Given the description of an element on the screen output the (x, y) to click on. 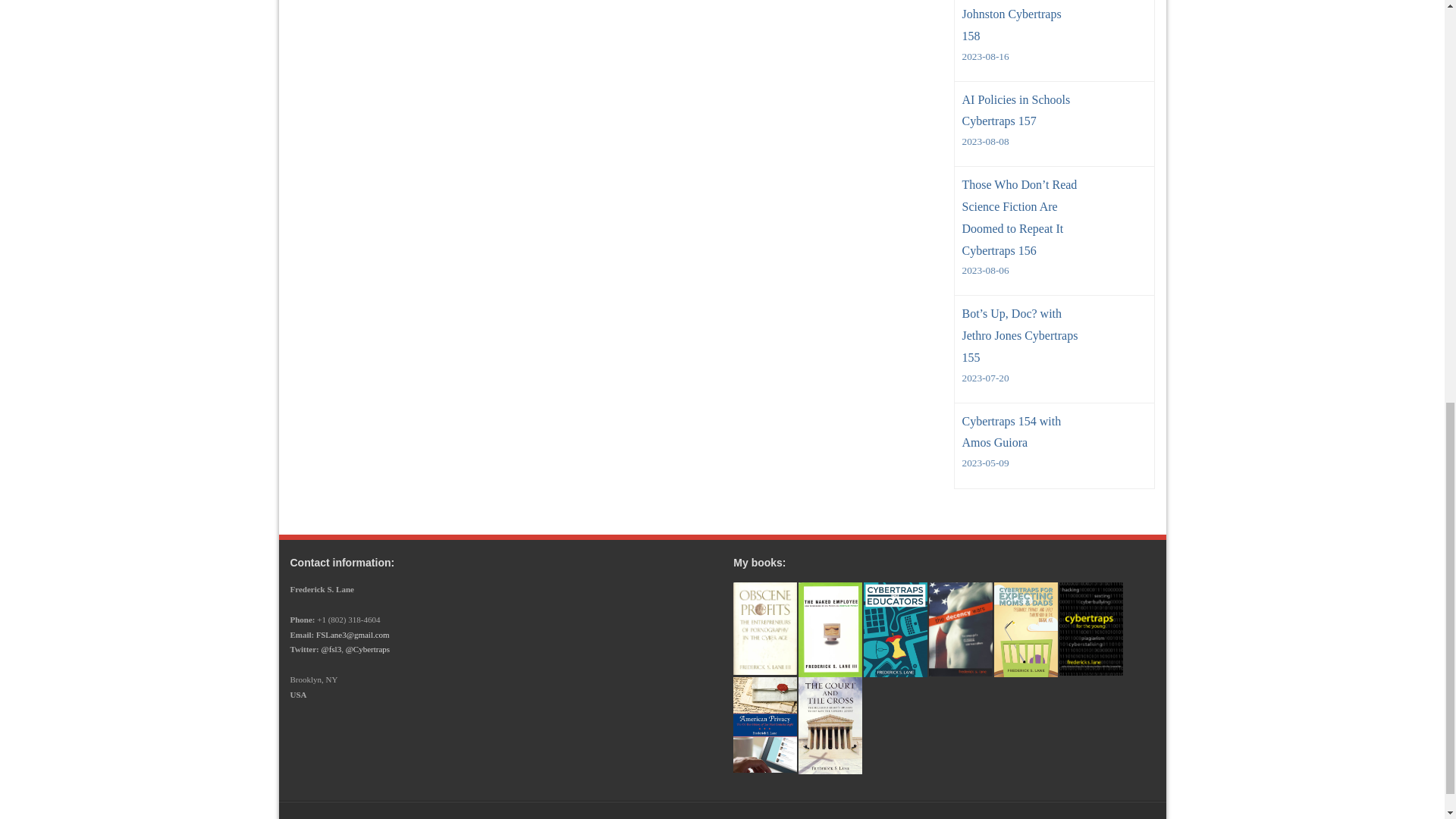
2023-08-06 (1020, 270)
Cybertraps 154 with Amos Guiora (1020, 433)
2023-08-16 (1020, 56)
AI Policies in Schools Cybertraps 157 (1020, 111)
2023-07-20 (1020, 378)
2023-08-08 (1020, 141)
